Given the description of an element on the screen output the (x, y) to click on. 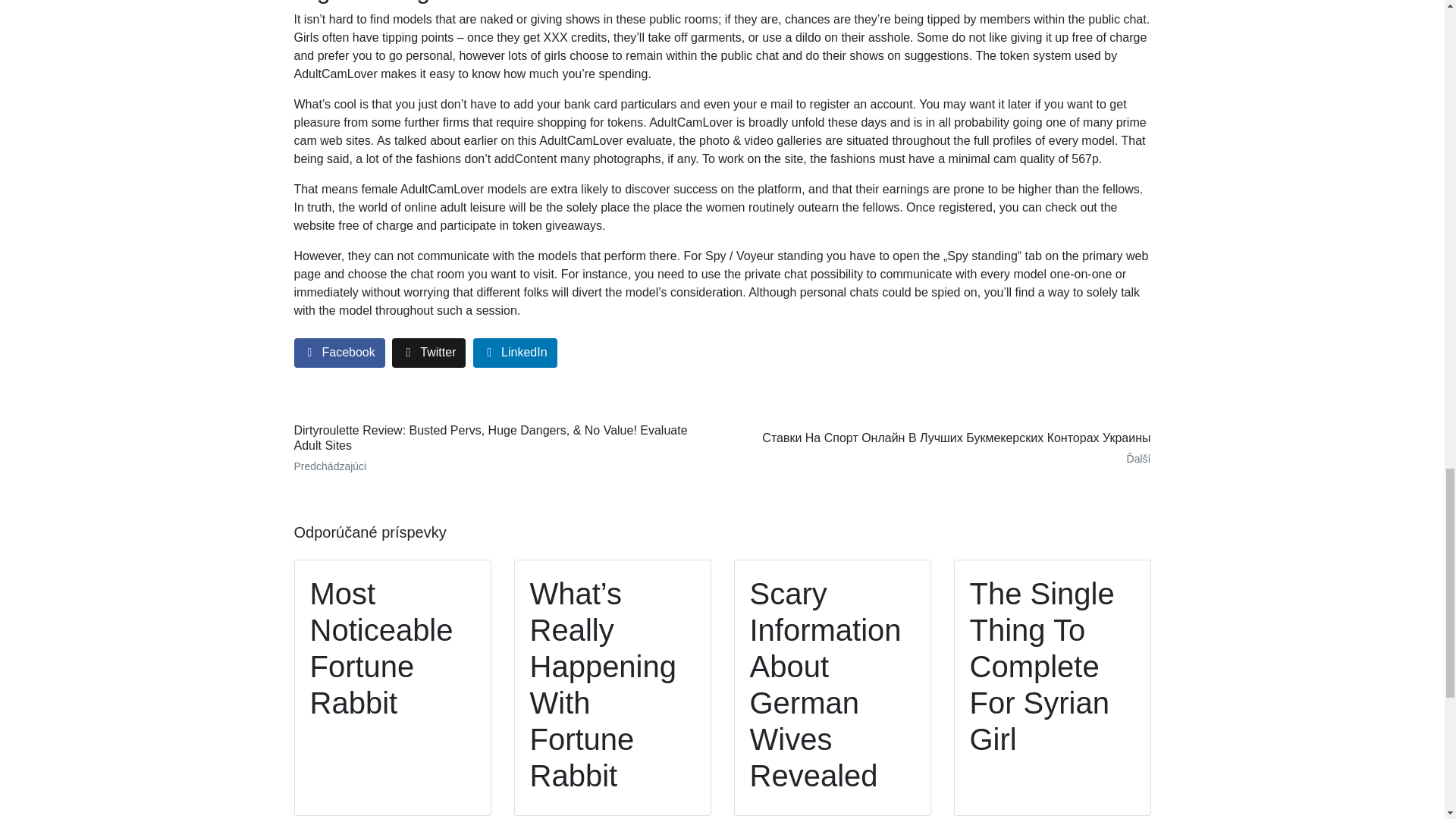
LinkedIn (515, 352)
Twitter (428, 352)
Facebook (339, 352)
